Given the description of an element on the screen output the (x, y) to click on. 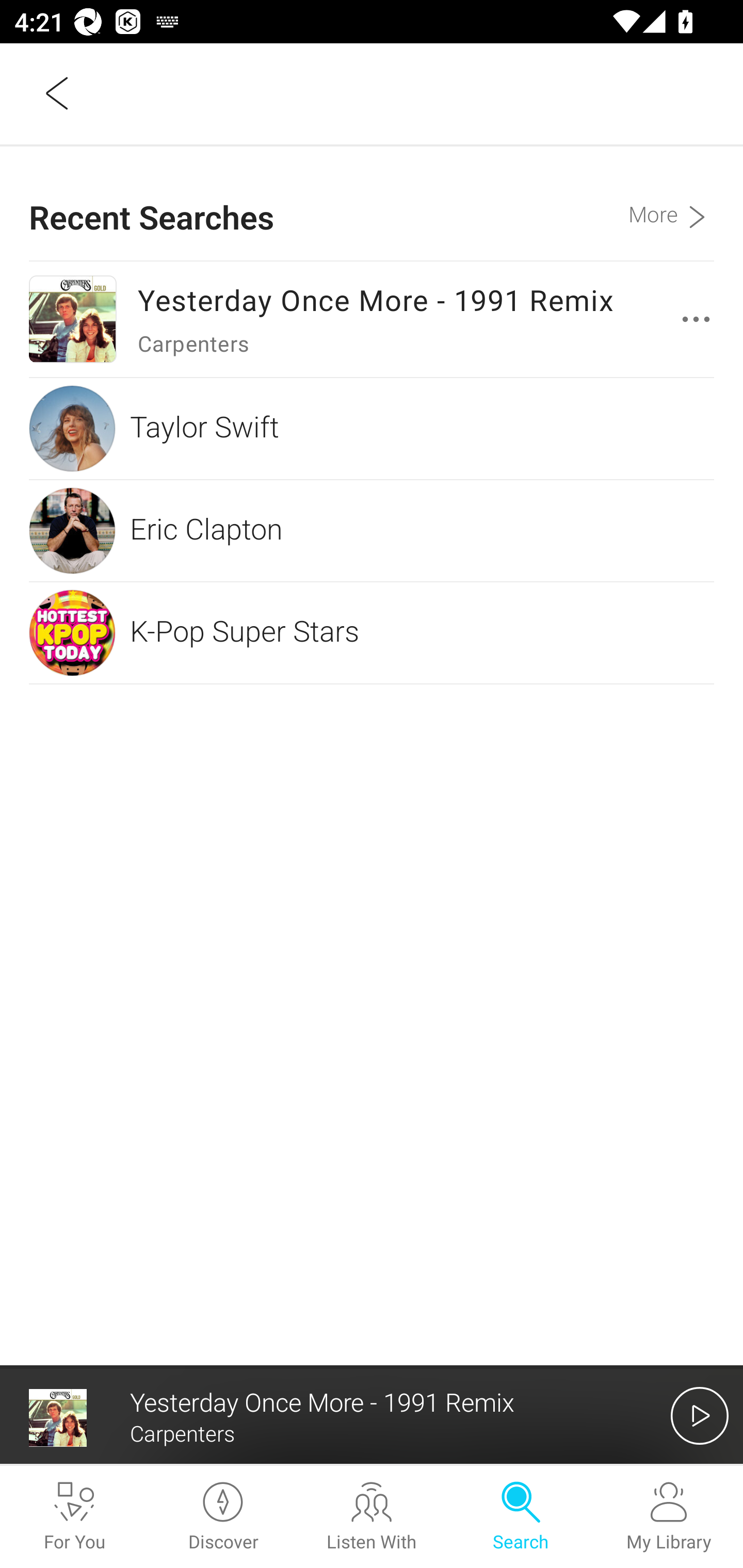
Back,outside of the list (57, 93)
More Recent Searches More (671, 202)
Yesterday Once More - 1991 Remix Carpenters 更多操作選項 (371, 318)
更多操作選項 (699, 318)
Taylor Swift (371, 428)
Eric Clapton (371, 530)
K-Pop Super Stars (371, 632)
開始播放 (699, 1415)
For You (74, 1517)
Discover (222, 1517)
Listen With (371, 1517)
Search (519, 1517)
My Library (668, 1517)
